Given the description of an element on the screen output the (x, y) to click on. 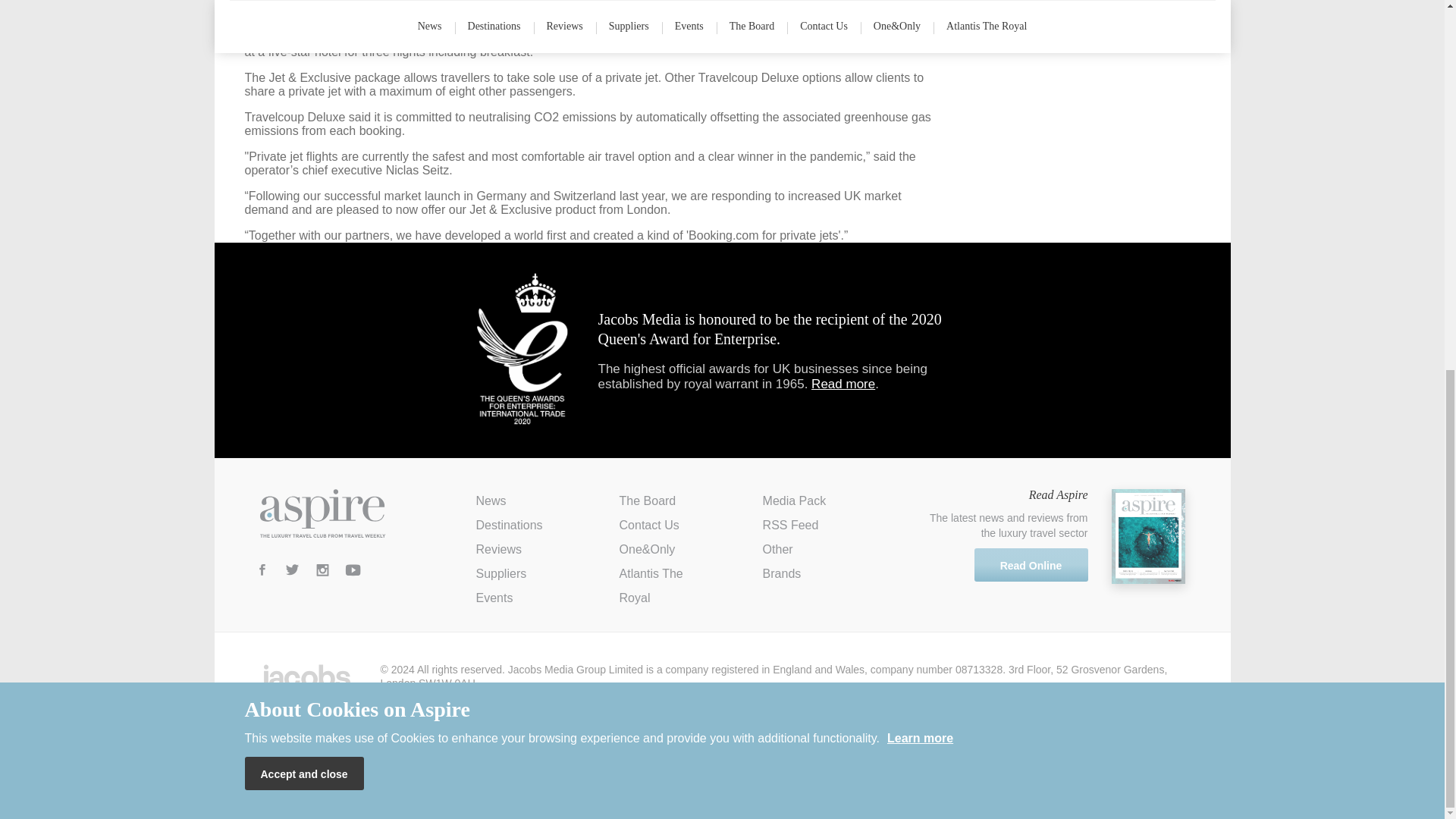
Events (494, 597)
Suppliers (501, 573)
News (491, 500)
The Board (648, 500)
Reviews (498, 549)
Destinations (509, 524)
Aspire - The Luxury Travel Club from Travel Weekly (322, 512)
Read more (842, 383)
